Given the description of an element on the screen output the (x, y) to click on. 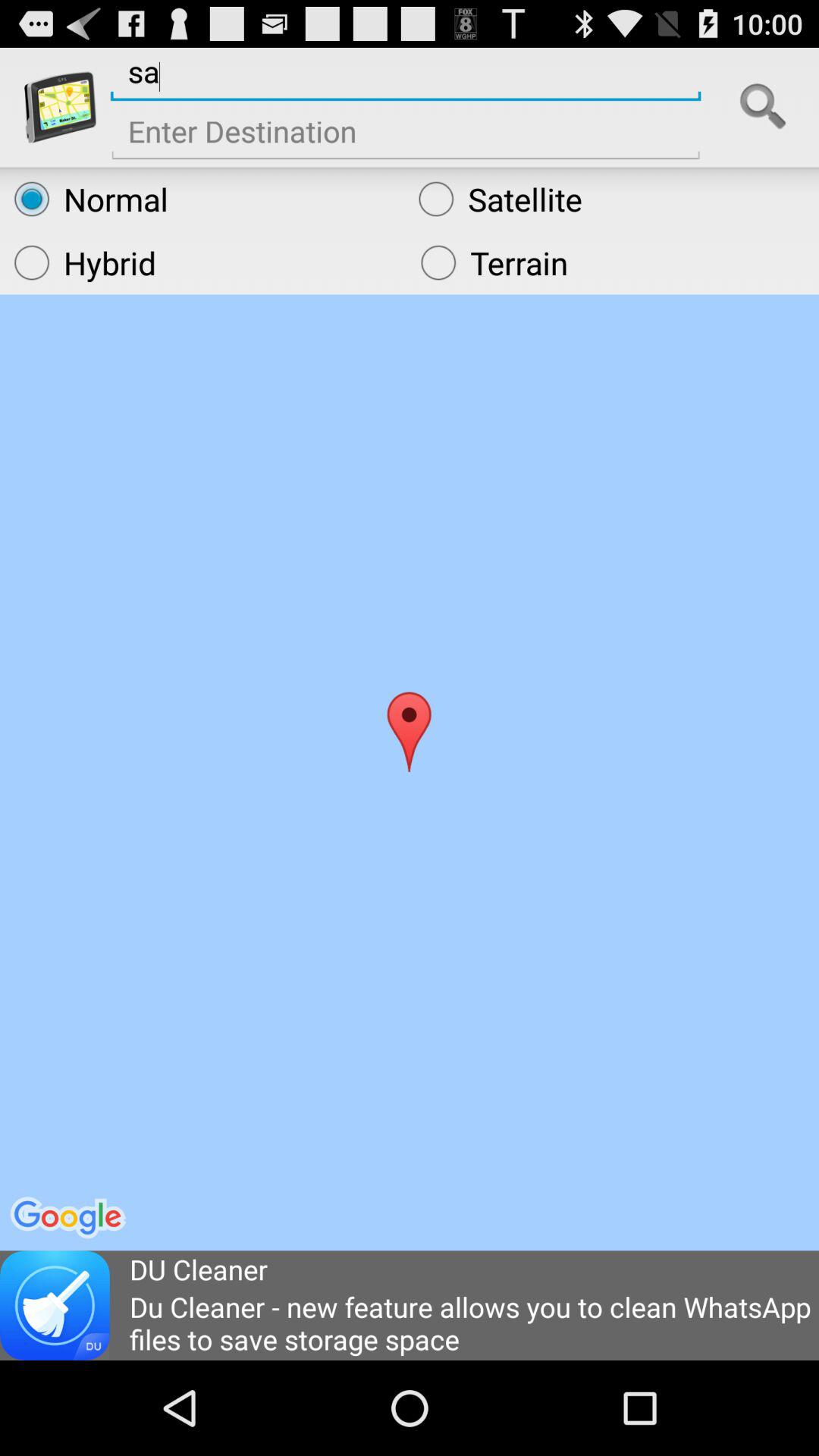
search the location (763, 107)
